Given the description of an element on the screen output the (x, y) to click on. 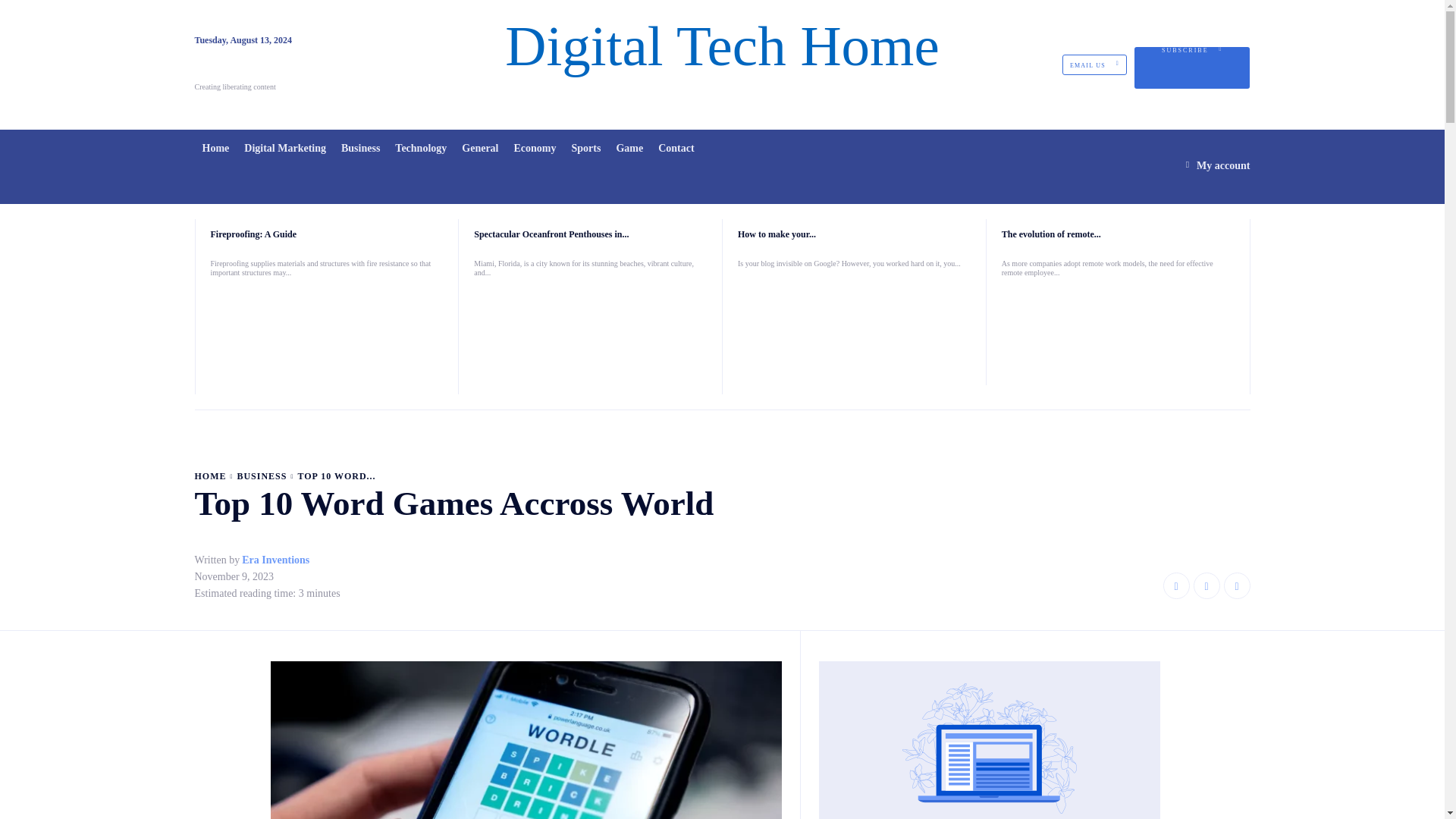
Game (629, 147)
EMAIL US (1094, 64)
Fireproofing: A Guide (254, 234)
View all posts in Business (260, 475)
Spectacular Oceanfront Penthouses in... (551, 234)
Business (360, 147)
Fireproofing: A Guide (327, 335)
